Given the description of an element on the screen output the (x, y) to click on. 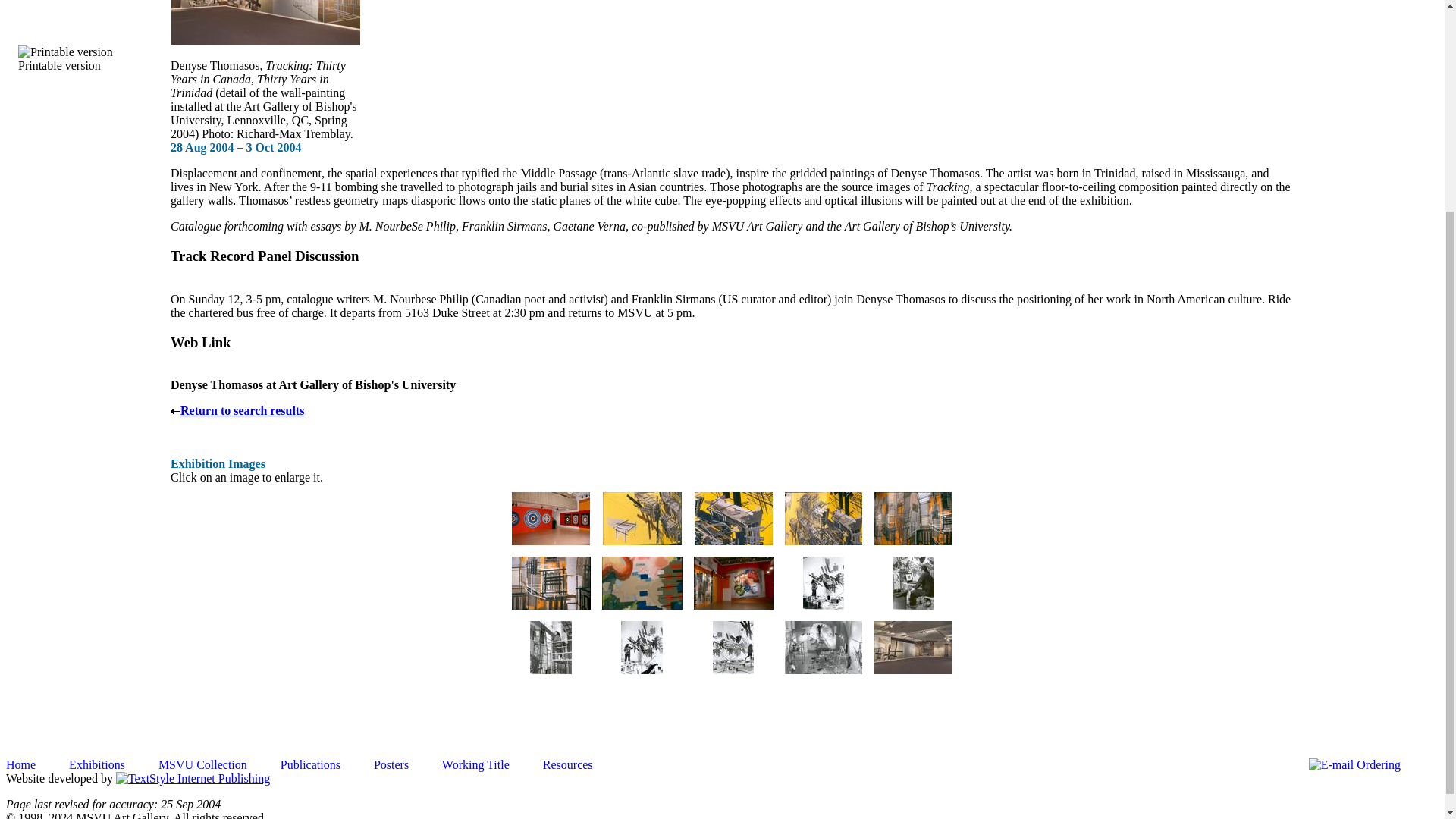
Denyse Thomasos Tracking (641, 540)
Printable version (65, 51)
Exhibitions (96, 764)
Printable version (65, 58)
Denyse Thomasos Tracking (641, 518)
MSVU Collection (202, 764)
Denyse Thomasos at Art Gallery of Bishop's University (312, 384)
Return to search results (237, 410)
Printable version (65, 58)
Denyse Thomasos Tracking (550, 540)
